Given the description of an element on the screen output the (x, y) to click on. 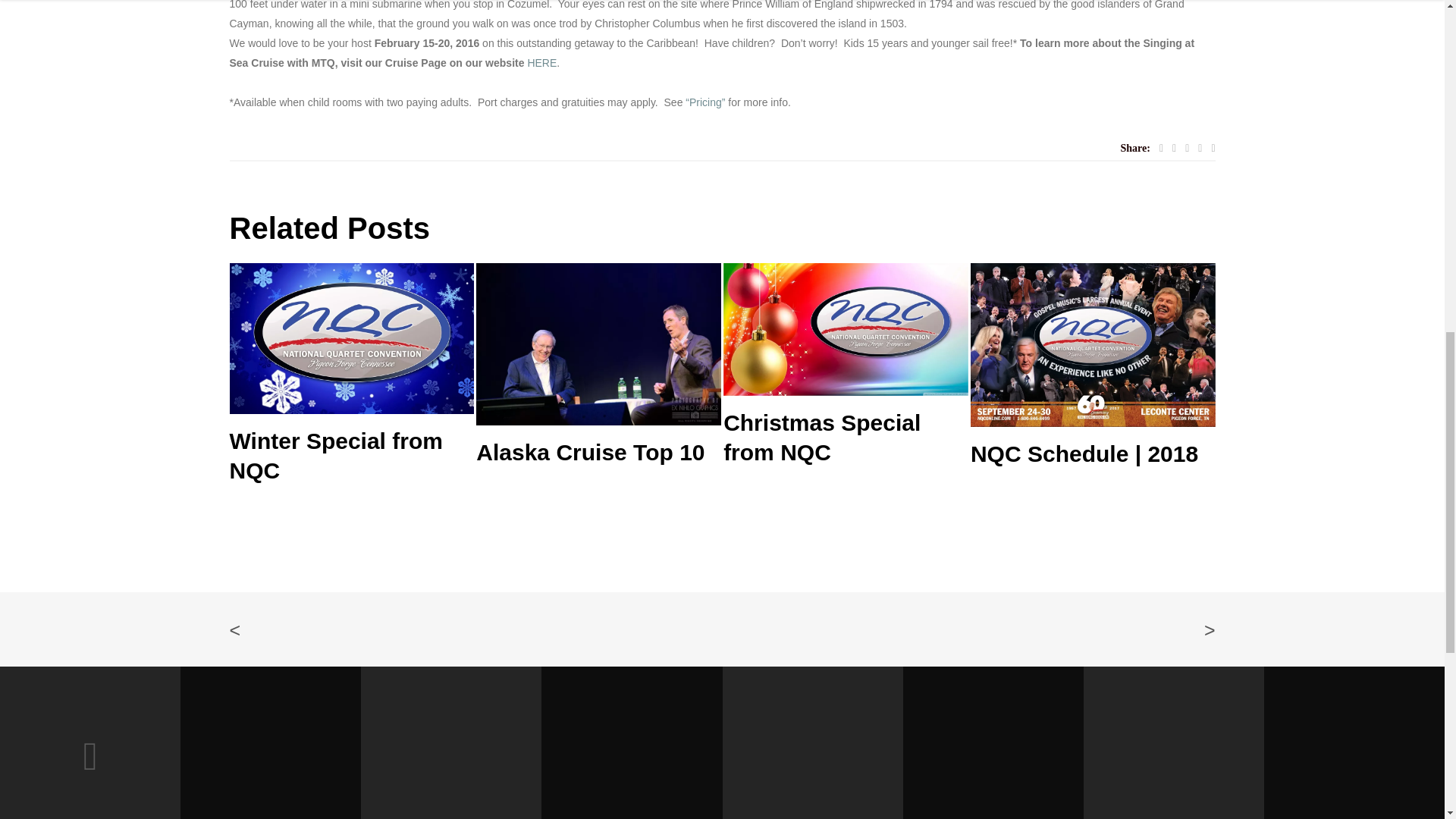
Alaska Cruise Top 10 (598, 451)
Winter Special from NQC (351, 455)
Christmas Special from NQC (845, 436)
